Given the description of an element on the screen output the (x, y) to click on. 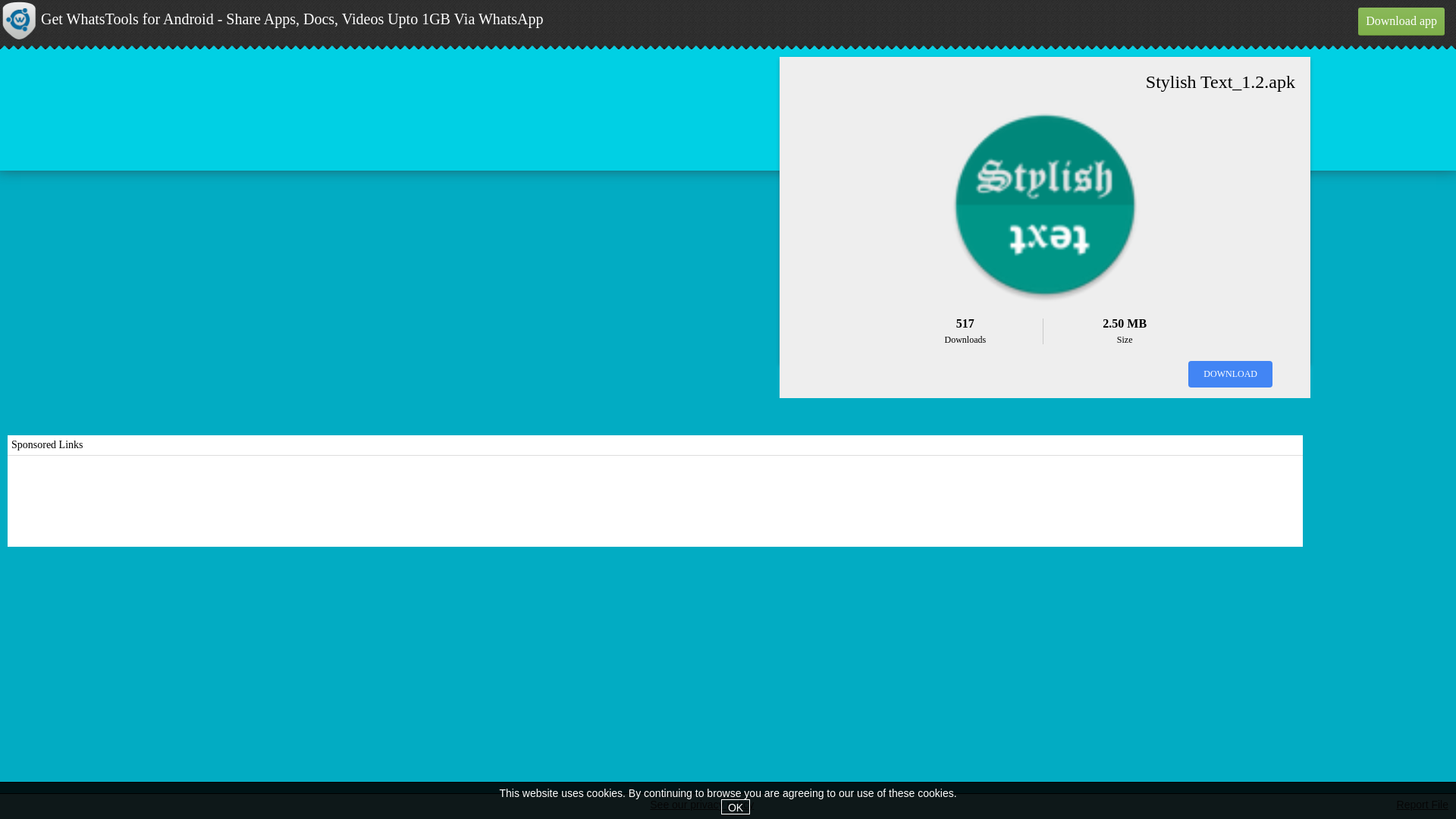
Advertisement (654, 500)
Report File (1422, 804)
OK (734, 806)
DOWNLOAD (1230, 374)
See our privacy policy (701, 806)
